Given the description of an element on the screen output the (x, y) to click on. 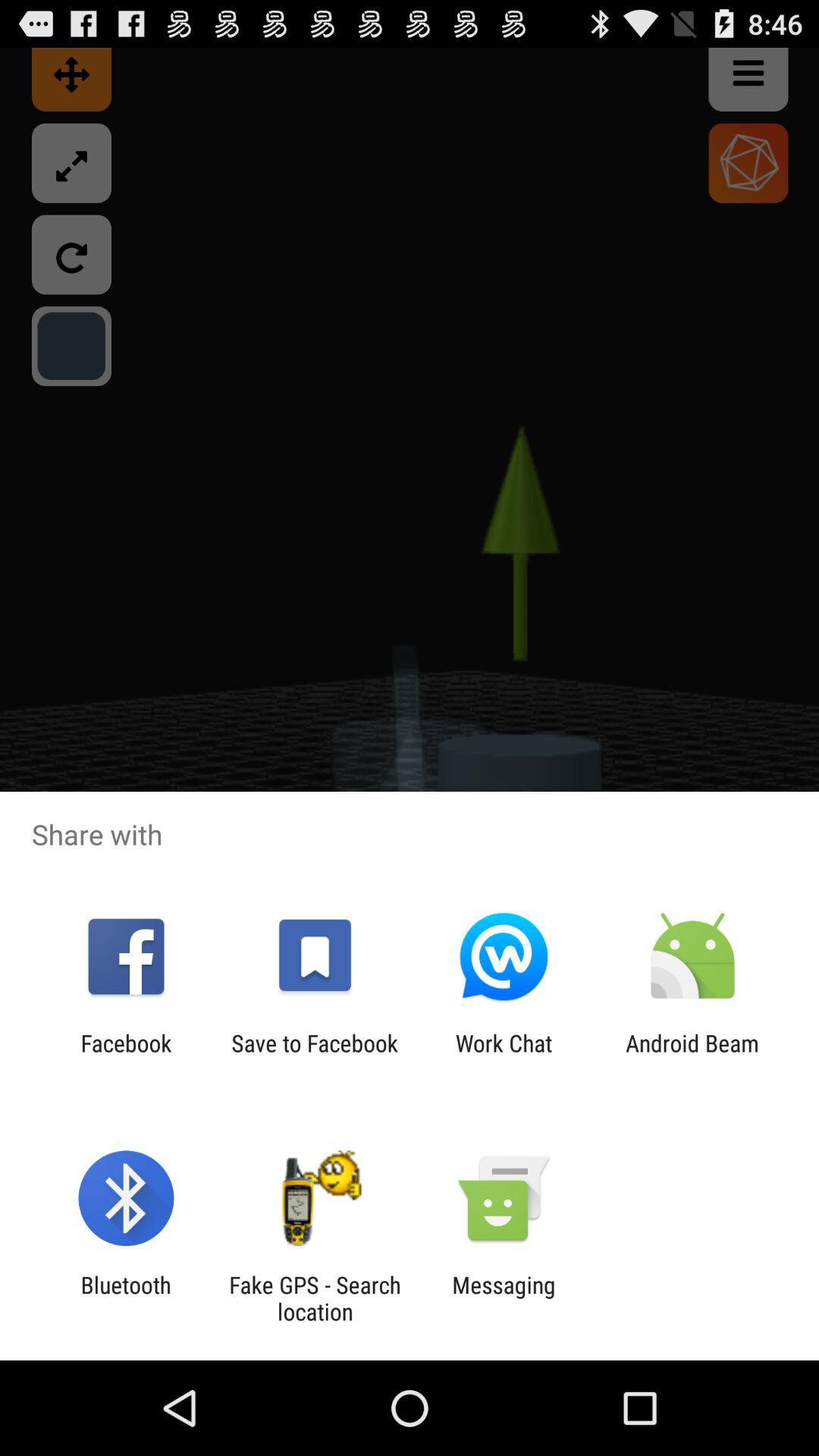
tap the fake gps search item (314, 1298)
